Given the description of an element on the screen output the (x, y) to click on. 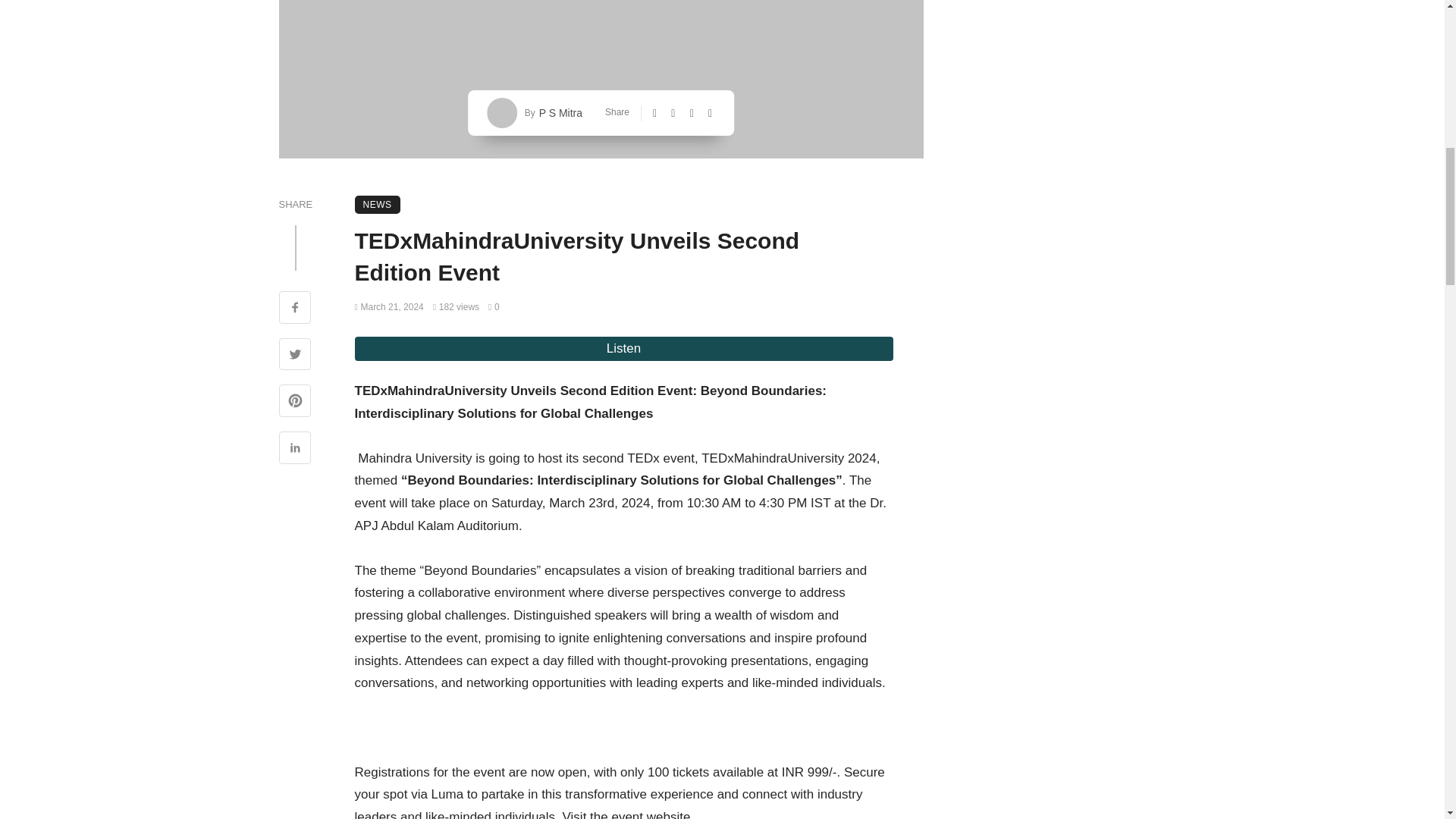
Listen (624, 348)
0 (493, 307)
Share on Linkedin (295, 449)
0 Comments (493, 307)
P S Mitra (558, 112)
Text To Audio:  Tap to listen post. (624, 348)
Share on Twitter (295, 356)
March 21, 2024 at 1:36 pm (389, 307)
Share on Facebook (295, 309)
Share on Pinterest (295, 402)
